Given the description of an element on the screen output the (x, y) to click on. 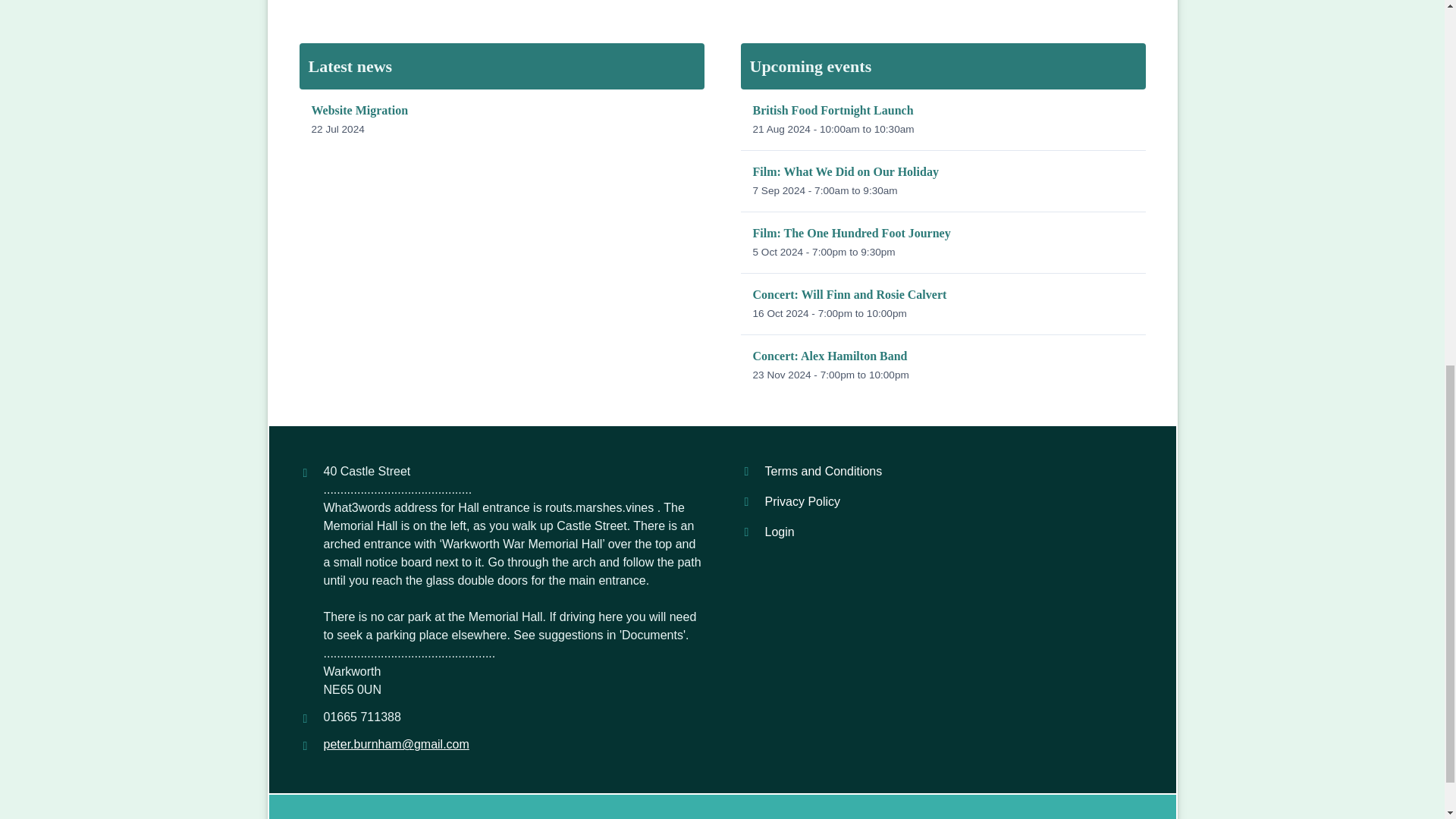
Terms and Conditions (500, 119)
Privacy Policy (941, 471)
Login (941, 501)
